Given the description of an element on the screen output the (x, y) to click on. 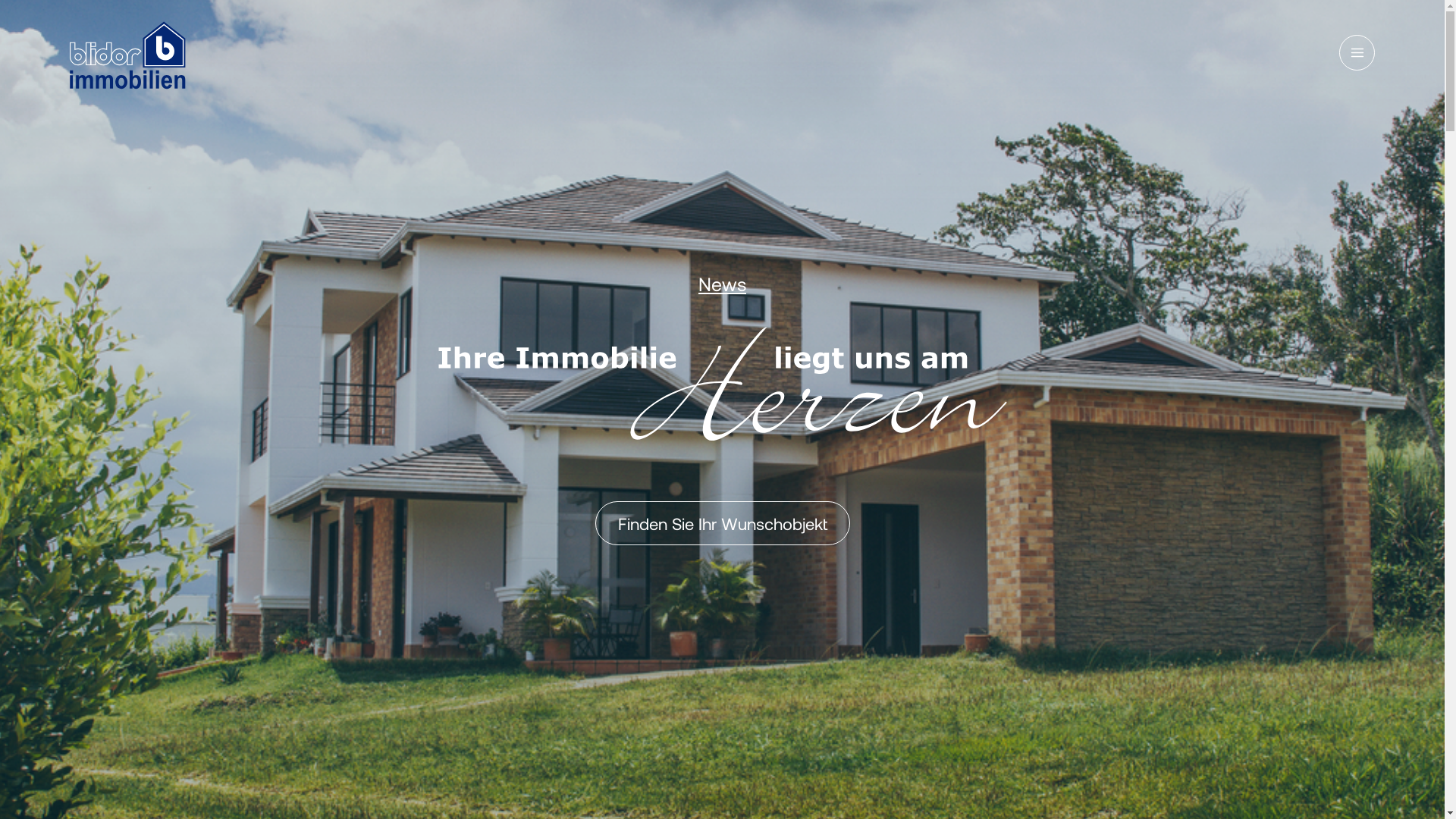
Finden Sie Ihr Wunschobjekt Element type: text (721, 522)
News Element type: text (722, 283)
